Given the description of an element on the screen output the (x, y) to click on. 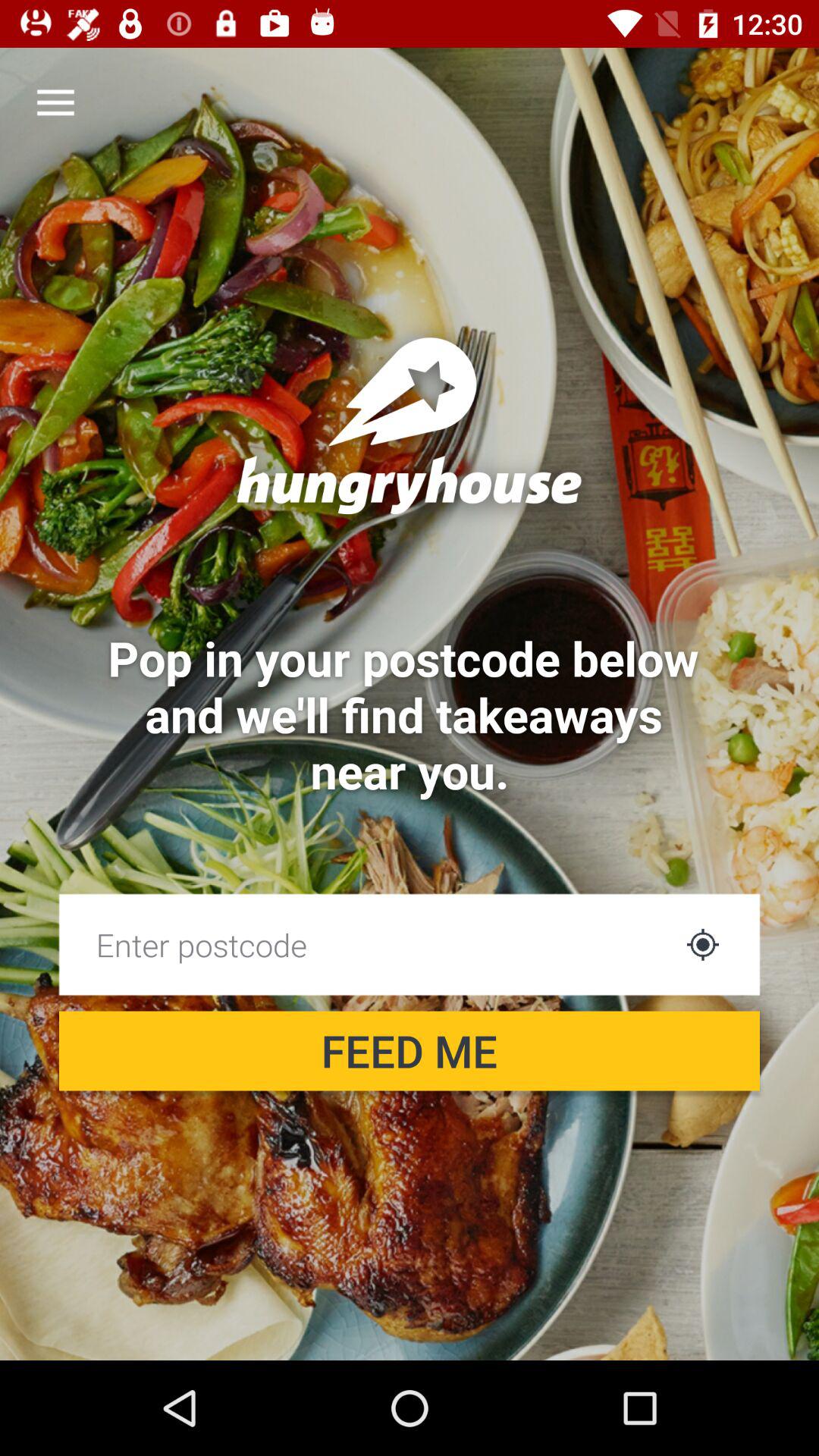
flip until feed me icon (409, 1050)
